Given the description of an element on the screen output the (x, y) to click on. 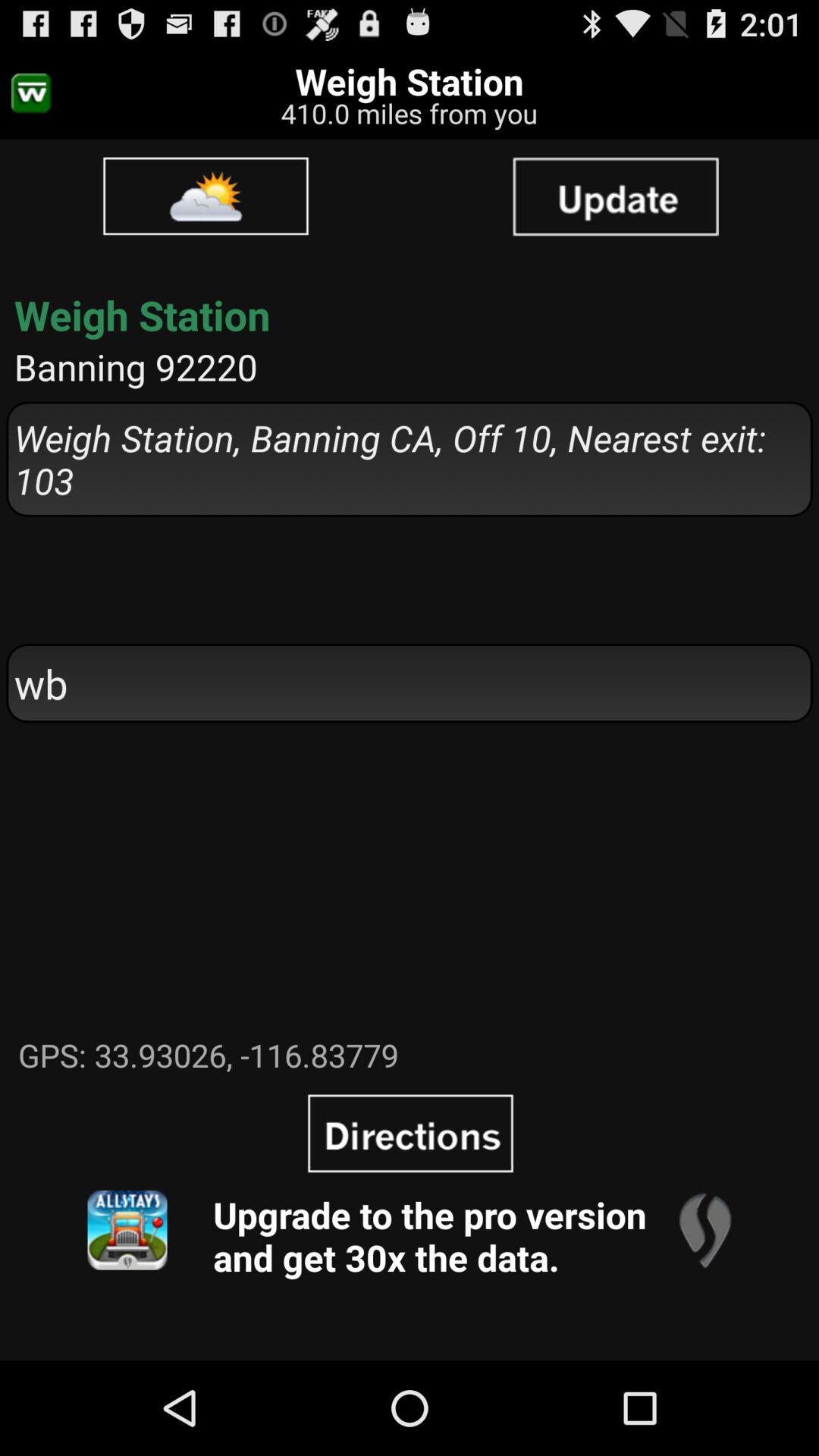
tap the item at the bottom left corner (127, 1230)
